Given the description of an element on the screen output the (x, y) to click on. 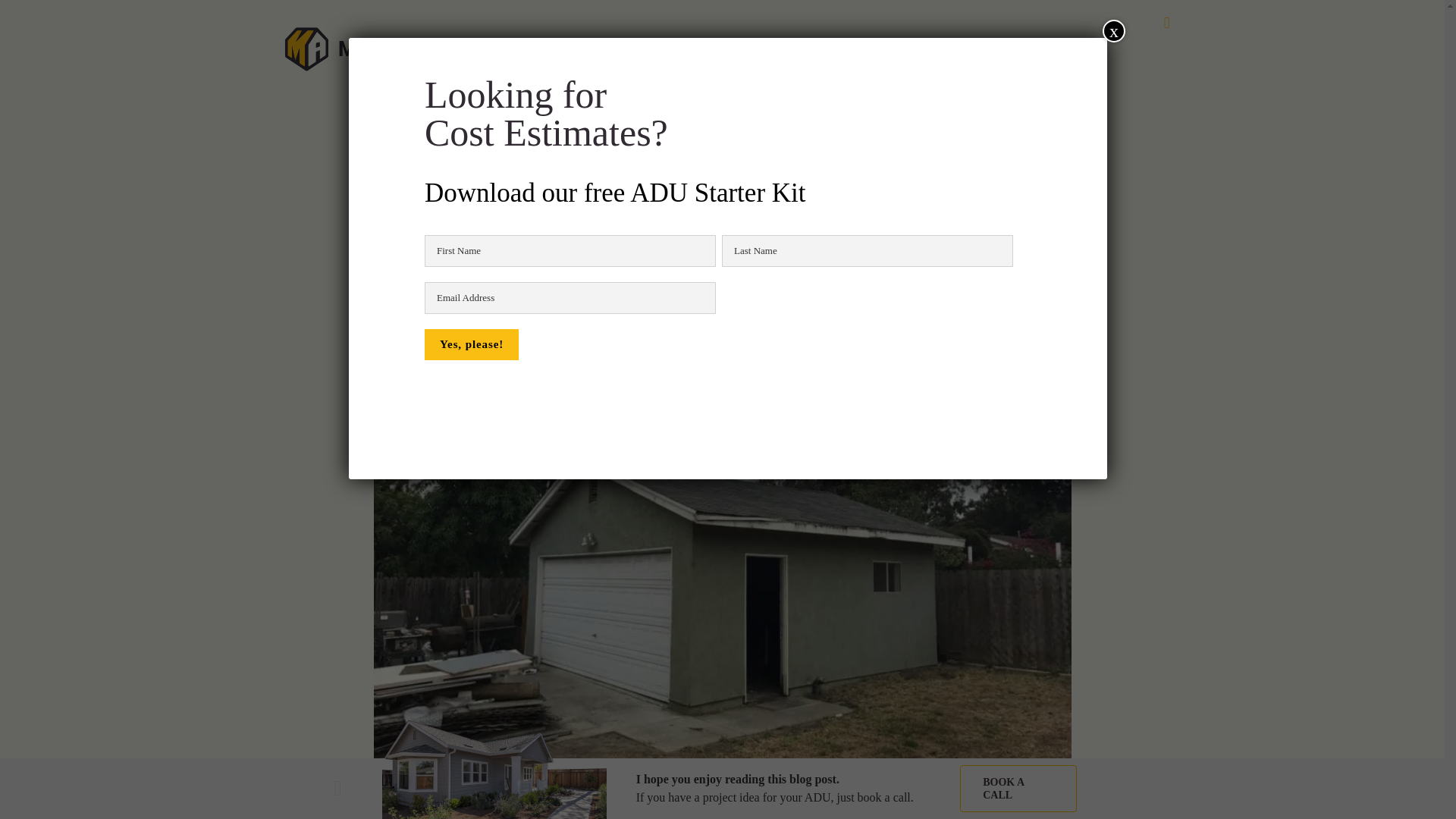
Yes, please! (471, 344)
